Given the description of an element on the screen output the (x, y) to click on. 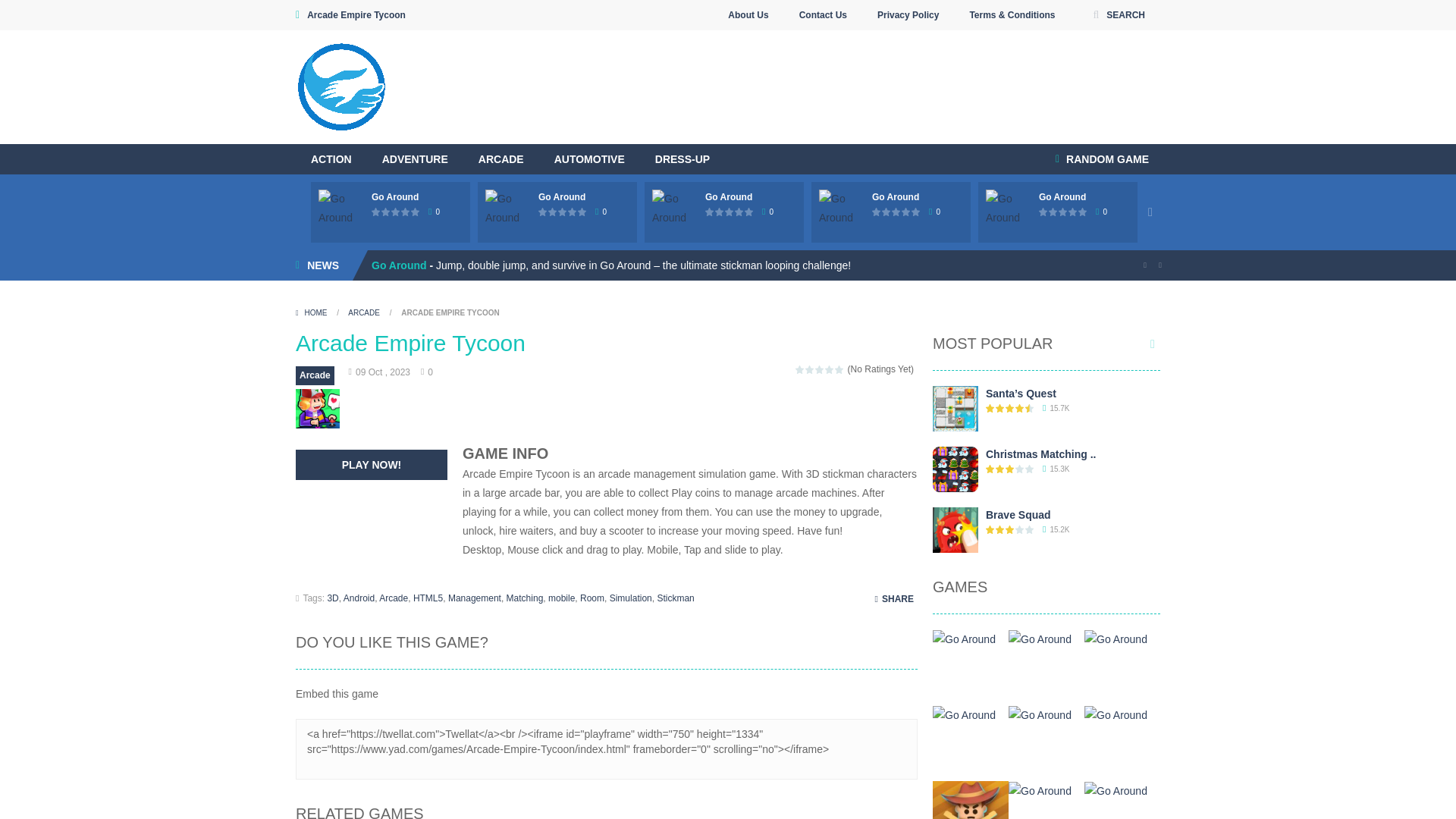
Go Around (395, 196)
Play a random game! (1101, 159)
0 votes, average: 0.00 out of 5 (552, 212)
0 votes, average: 0.00 out of 5 (572, 212)
Go Around (1062, 196)
Contact Us (823, 15)
ADVENTURE (414, 159)
0 votes, average: 0.00 out of 5 (543, 212)
Go Around (895, 196)
Privacy Policy (908, 15)
DRESS-UP (682, 159)
0 votes, average: 0.00 out of 5 (396, 212)
0 votes, average: 0.00 out of 5 (405, 212)
0 votes, average: 0.00 out of 5 (583, 212)
0 votes, average: 0.00 out of 5 (386, 212)
